Given the description of an element on the screen output the (x, y) to click on. 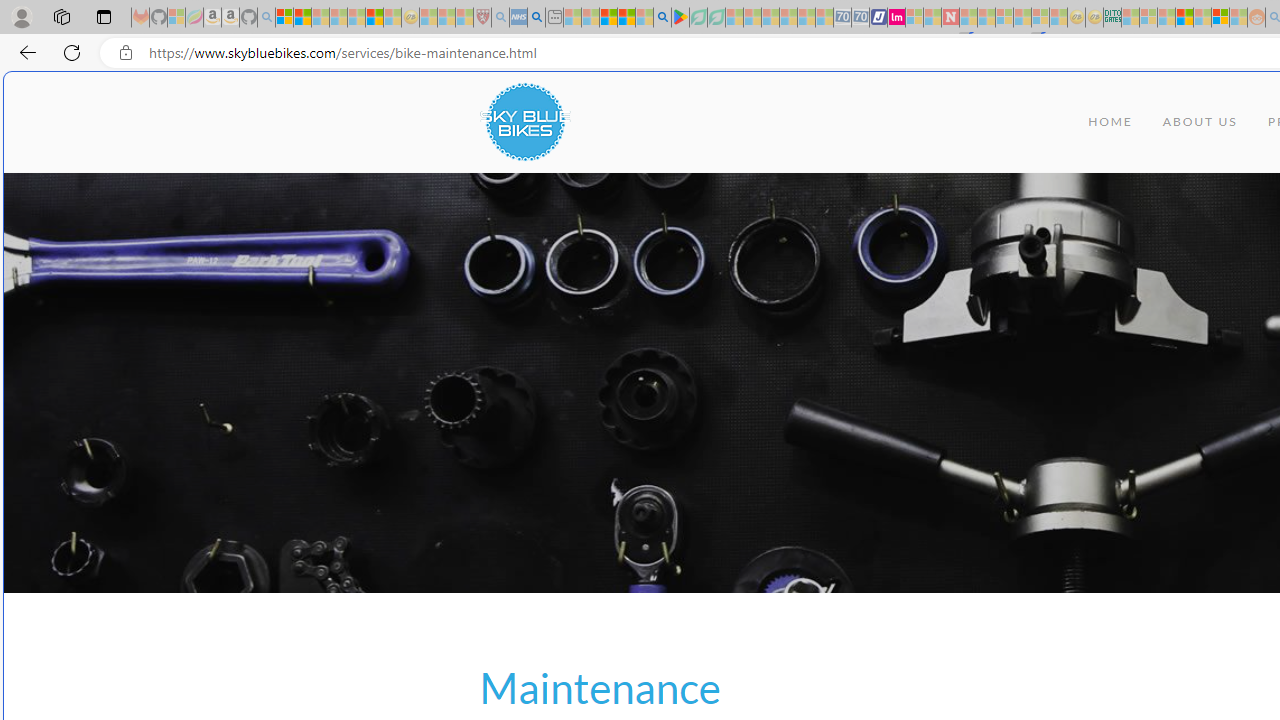
14 Common Myths Debunked By Scientific Facts - Sleeping (985, 17)
utah sues federal government - Search (536, 17)
Trusted Community Engagement and Contributions | Guidelines (968, 17)
Microsoft account | Privacy - Sleeping (1148, 17)
ABOUT US (1199, 122)
DITOGAMES AG Imprint (1112, 17)
